Given the description of an element on the screen output the (x, y) to click on. 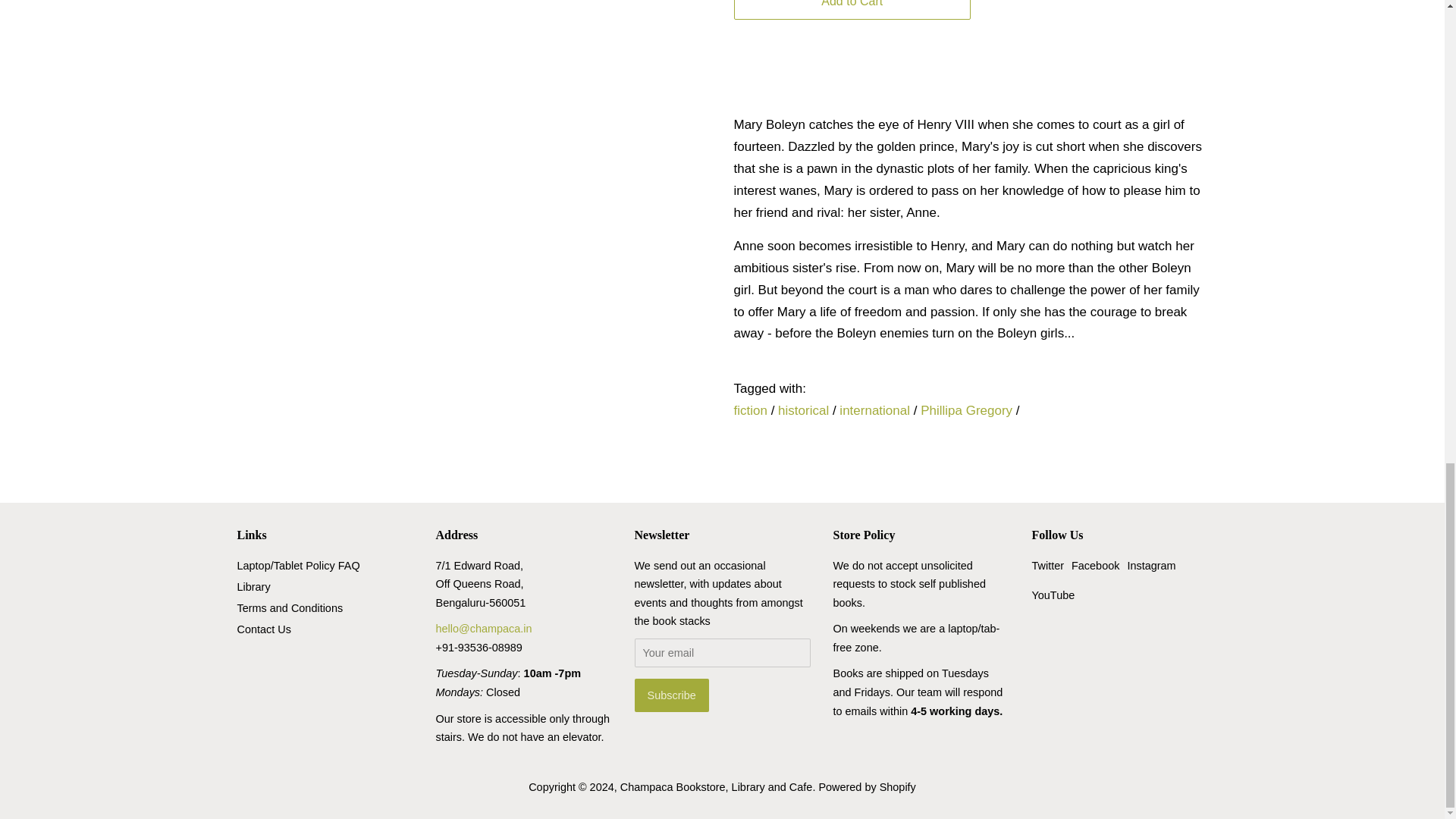
Champaca Bookstore, Library and Cafe on Instagram (1150, 565)
Champaca Bookstore, Library and Cafe on Twitter (1047, 565)
Champaca Bookstore, Library and Cafe on Facebook (1095, 565)
Subscribe (670, 694)
Champaca Bookstore, Library and Cafe on YouTube (1052, 594)
